Given the description of an element on the screen output the (x, y) to click on. 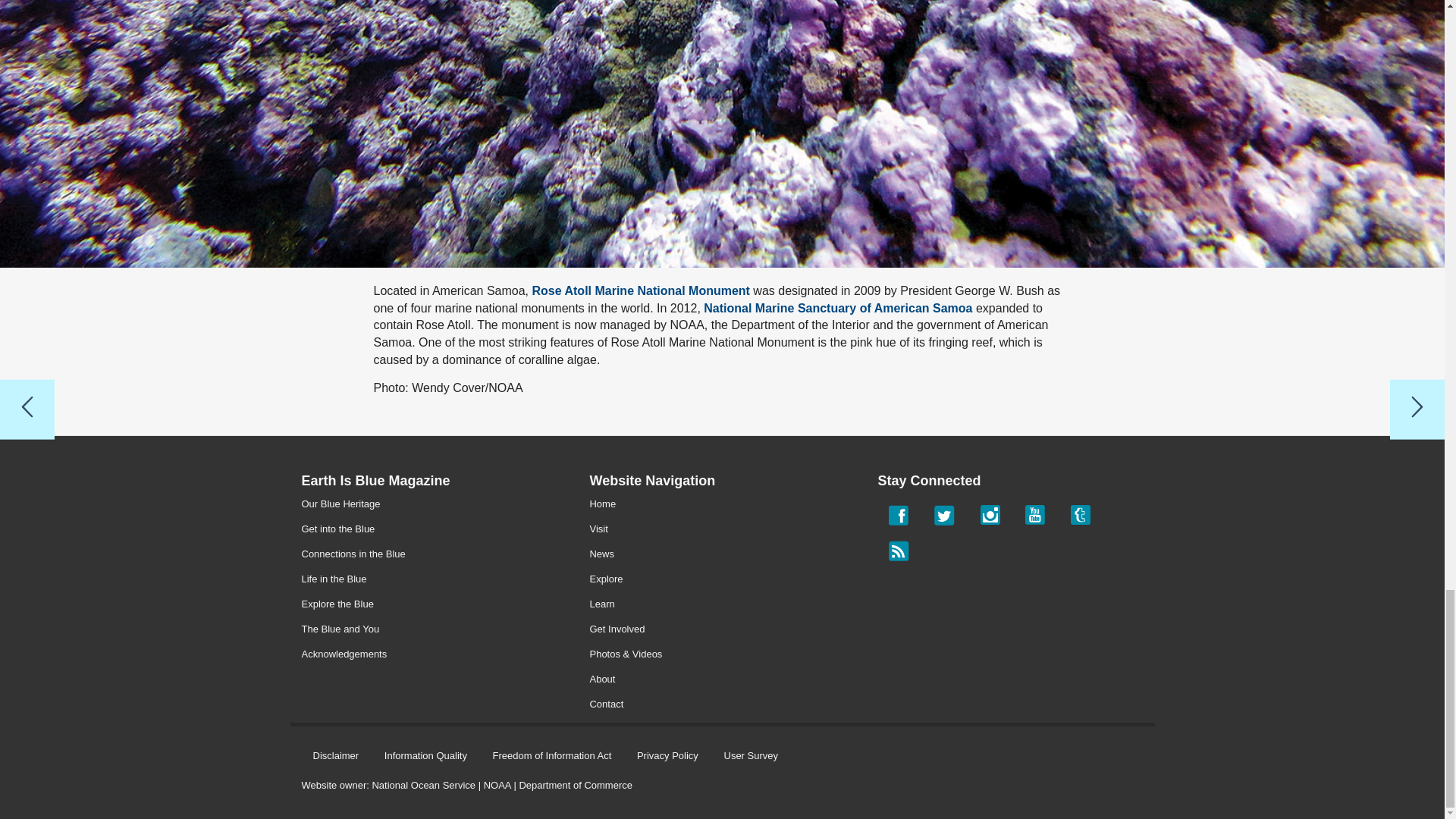
Get Involved (617, 628)
Connections in the Blue (353, 553)
Life in the Blue (333, 578)
News (601, 553)
Home (602, 503)
National Marine Sanctuary of American Samoa (837, 308)
Explore the Blue (337, 603)
Explore (606, 578)
Contact (606, 704)
Acknowledgements (344, 654)
